Given the description of an element on the screen output the (x, y) to click on. 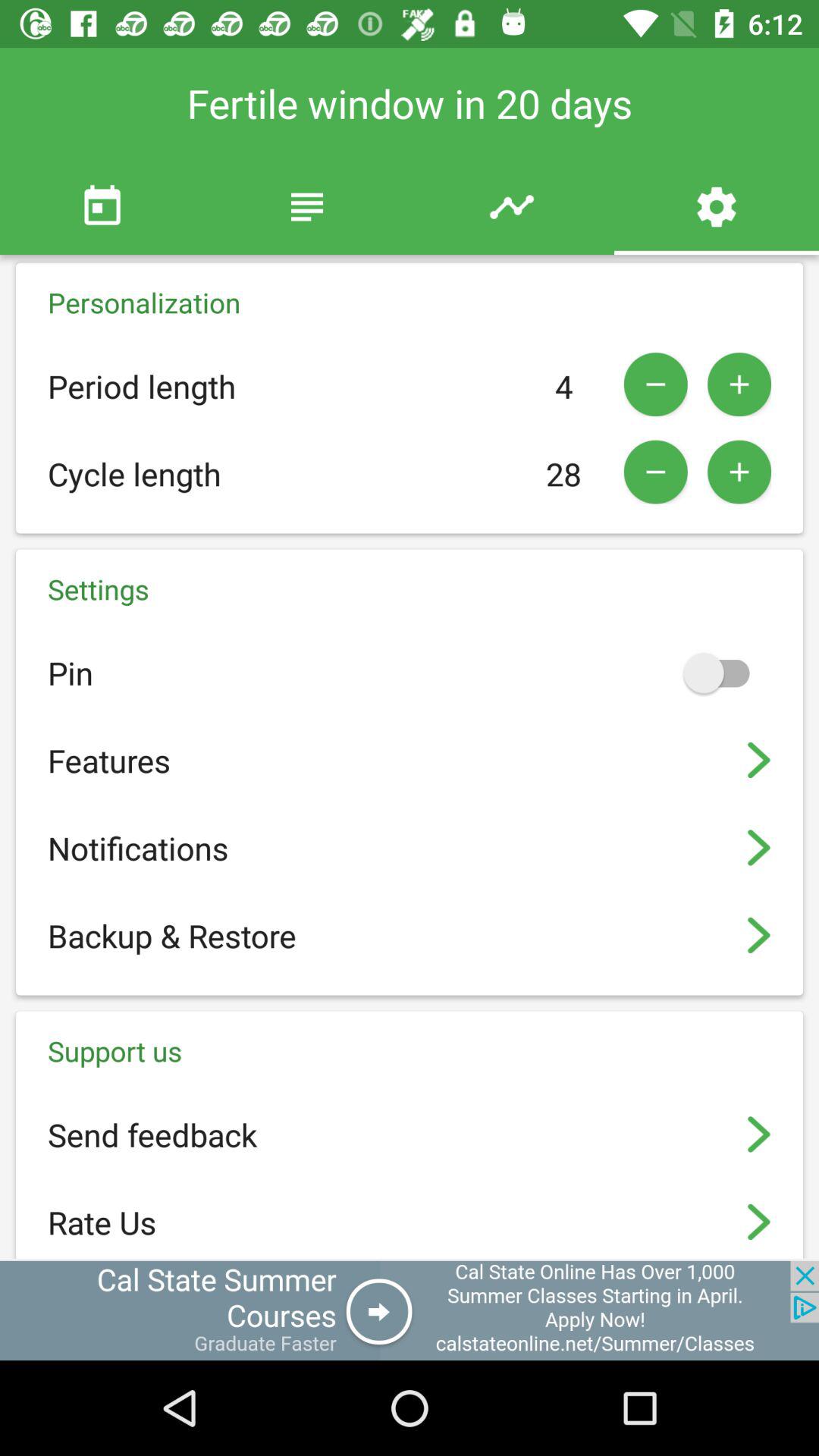
open an advertisements (409, 1310)
